Given the description of an element on the screen output the (x, y) to click on. 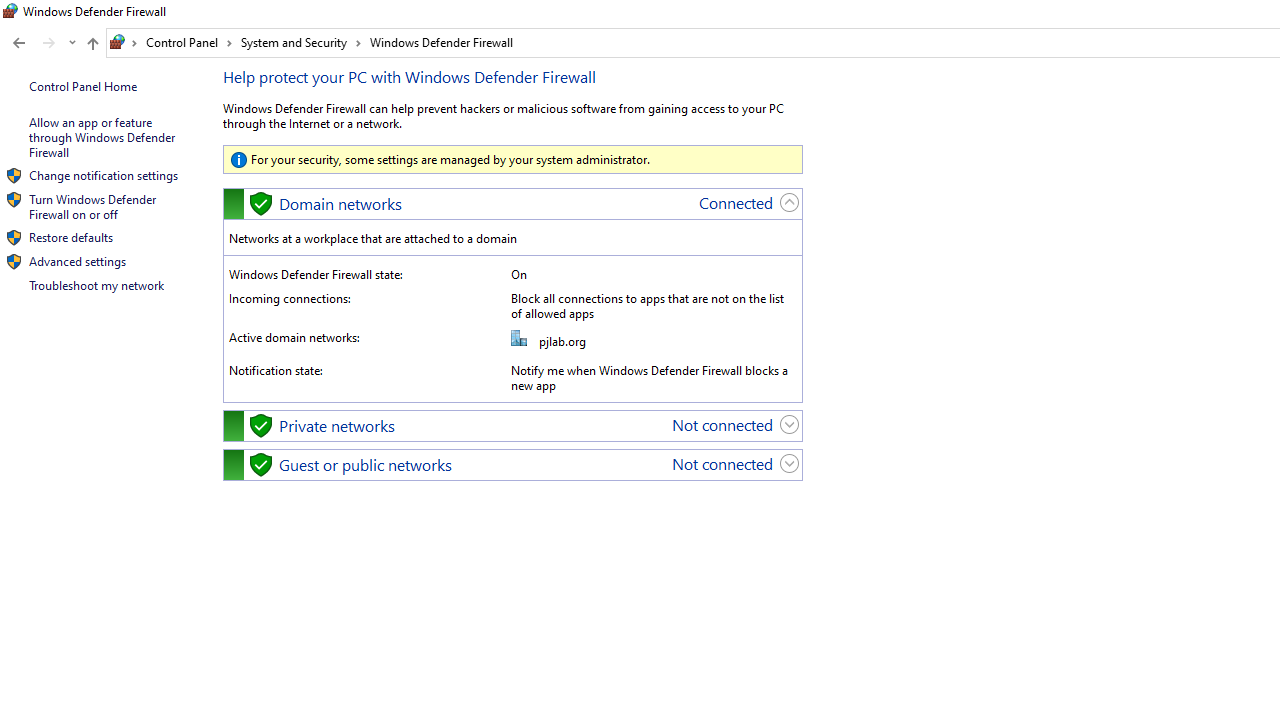
Control Panel Home (82, 86)
Control Panel (189, 42)
Up band toolbar (92, 46)
System (10, 11)
Icon (13, 262)
Connected (735, 202)
Restore defaults (70, 236)
